Given the description of an element on the screen output the (x, y) to click on. 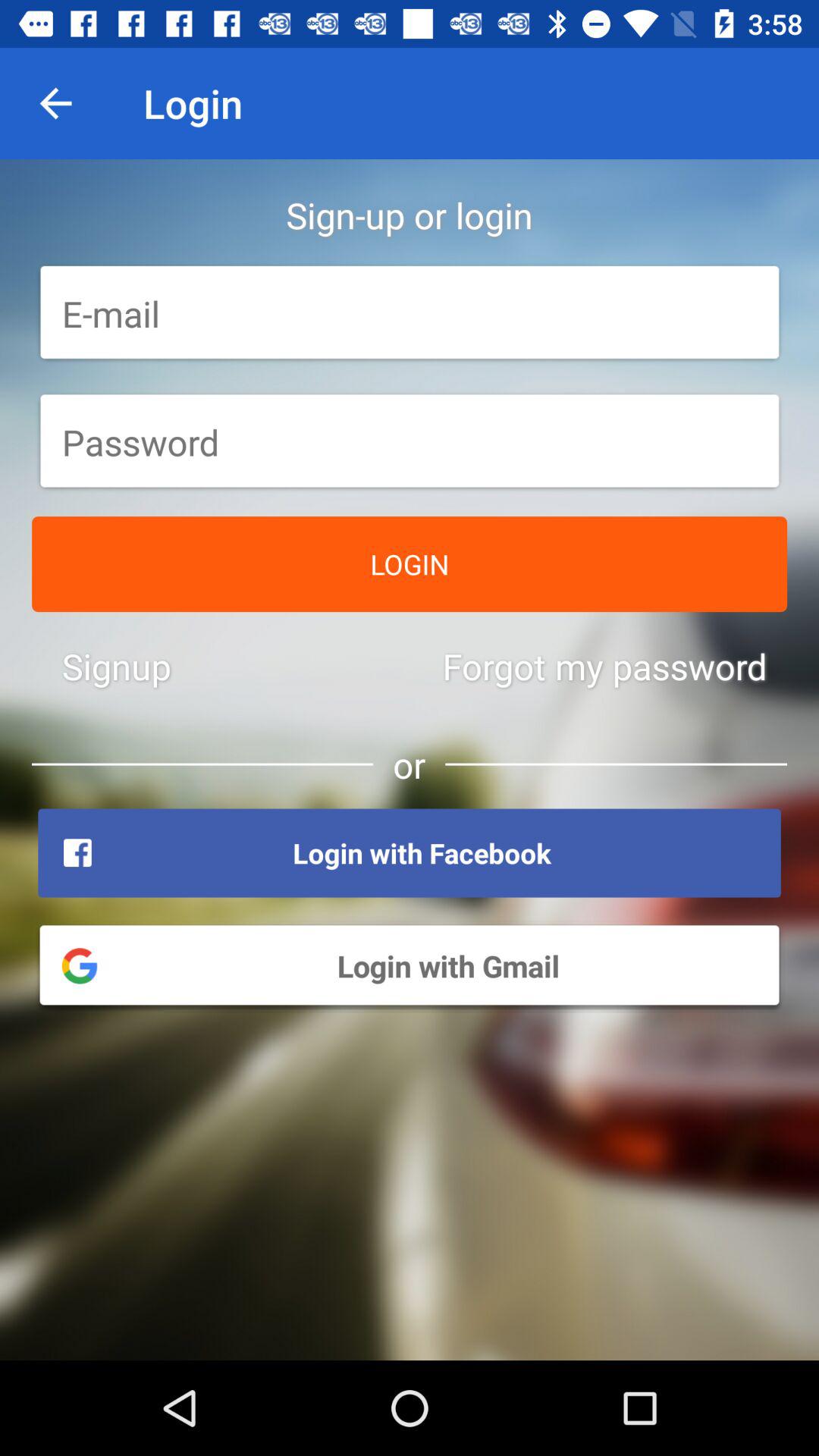
launch icon below login (604, 665)
